Given the description of an element on the screen output the (x, y) to click on. 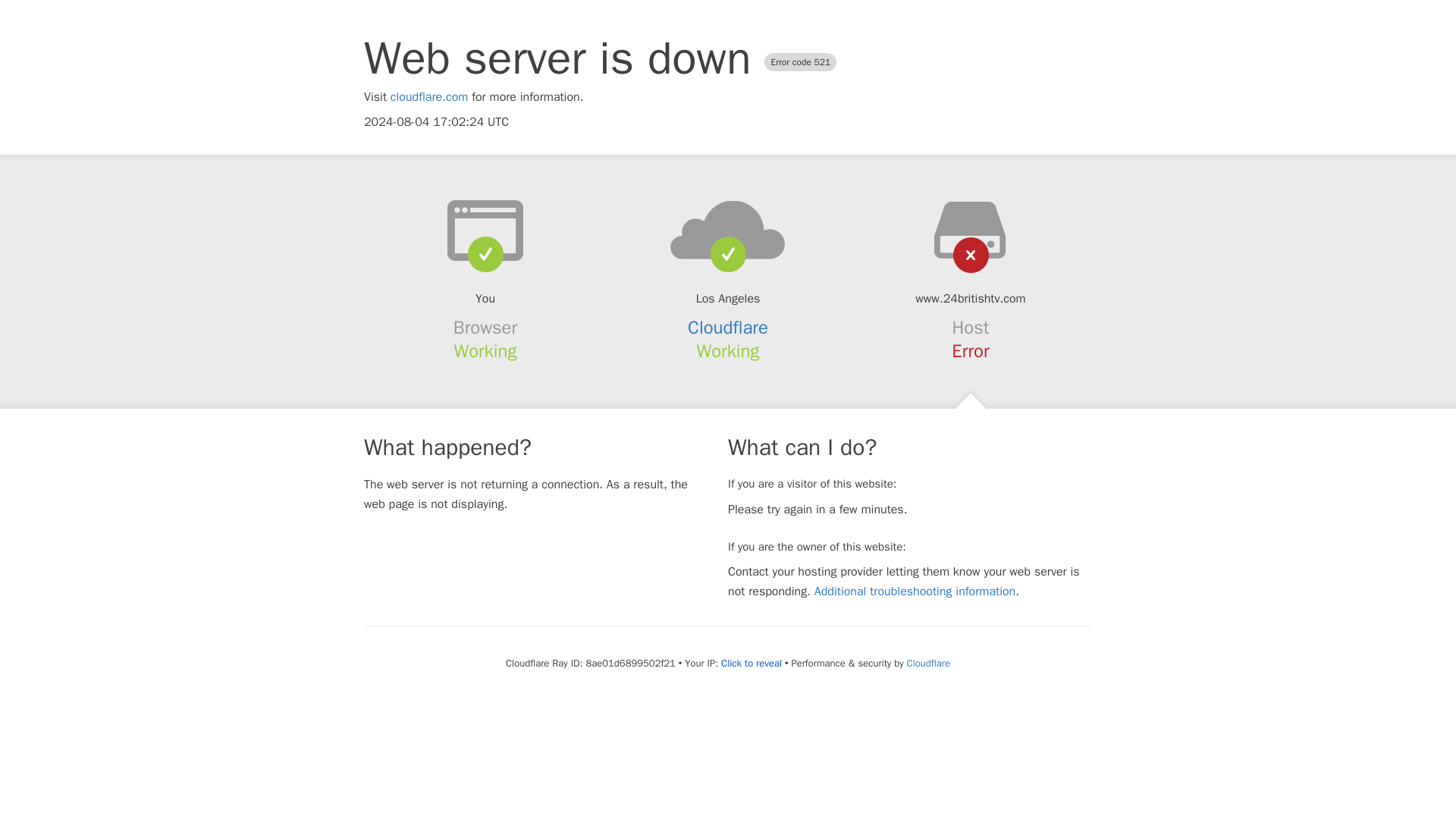
Additional troubleshooting information (913, 590)
Click to reveal (750, 663)
Cloudflare (928, 662)
Cloudflare (727, 327)
cloudflare.com (429, 96)
